Given the description of an element on the screen output the (x, y) to click on. 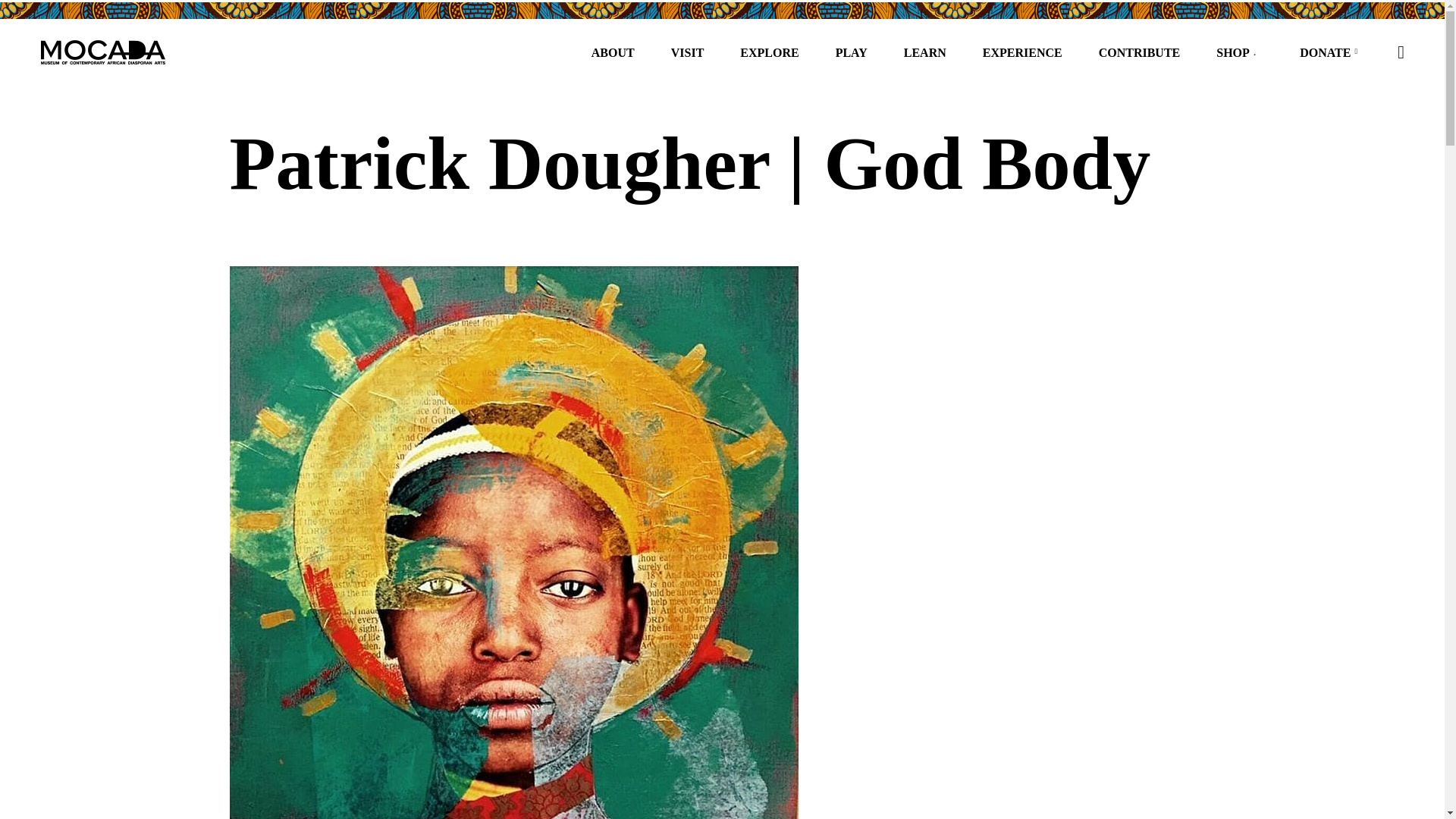
DONATE (1326, 51)
PLAY (850, 51)
CONTRIBUTE (1139, 51)
ABOUT (612, 51)
LEARN (924, 51)
VISIT (687, 51)
EXPLORE (769, 51)
EXPERIENCE (1021, 51)
SHOP (1233, 51)
